Given the description of an element on the screen output the (x, y) to click on. 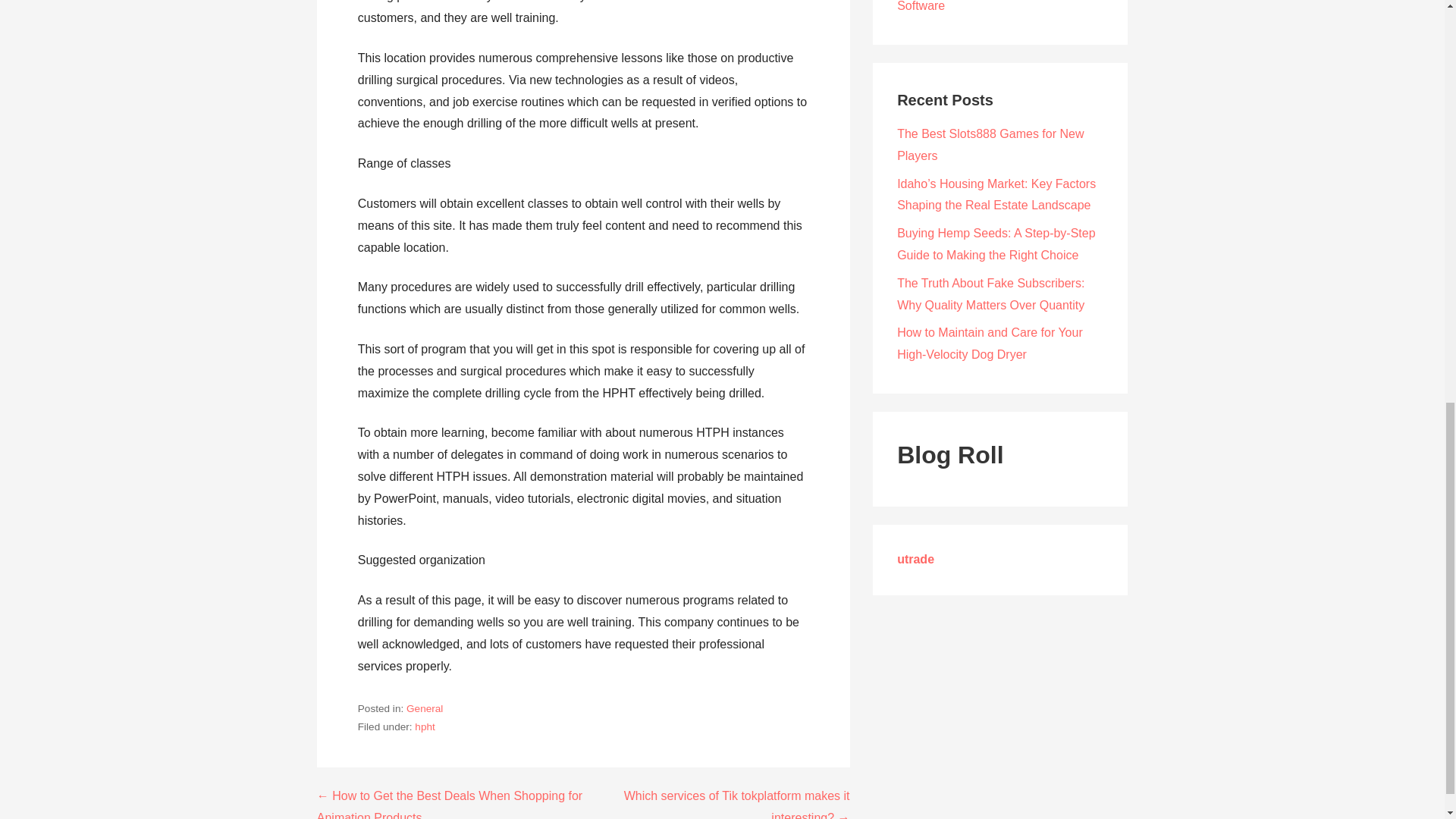
hpht (423, 726)
General (424, 708)
The Best Slots888 Games for New Players (989, 144)
utrade (915, 558)
Software (920, 6)
How to Maintain and Care for Your High-Velocity Dog Dryer (989, 343)
